Given the description of an element on the screen output the (x, y) to click on. 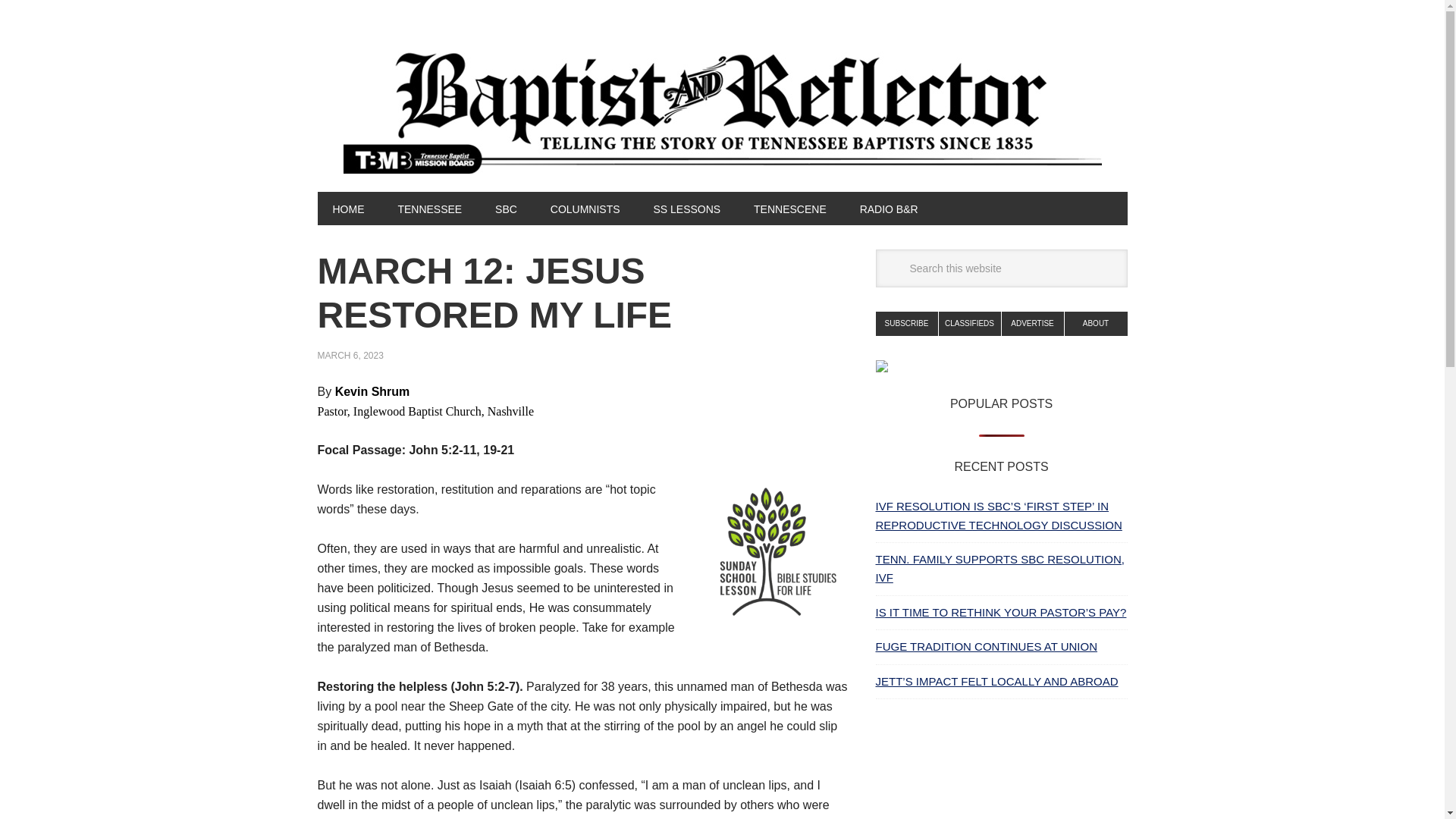
SBC (506, 208)
SUBSCRIBE (906, 323)
TENNESCENE (789, 208)
CLASSIFIEDS (970, 323)
ADVERTISE (1032, 323)
HOME (347, 208)
COLUMNISTS (584, 208)
SS LESSONS (686, 208)
FUGE TRADITION CONTINUES AT UNION (986, 645)
ABOUT (1095, 323)
TENNESSEE (429, 208)
TENN. FAMILY SUPPORTS SBC RESOLUTION, IVF (999, 567)
